Given the description of an element on the screen output the (x, y) to click on. 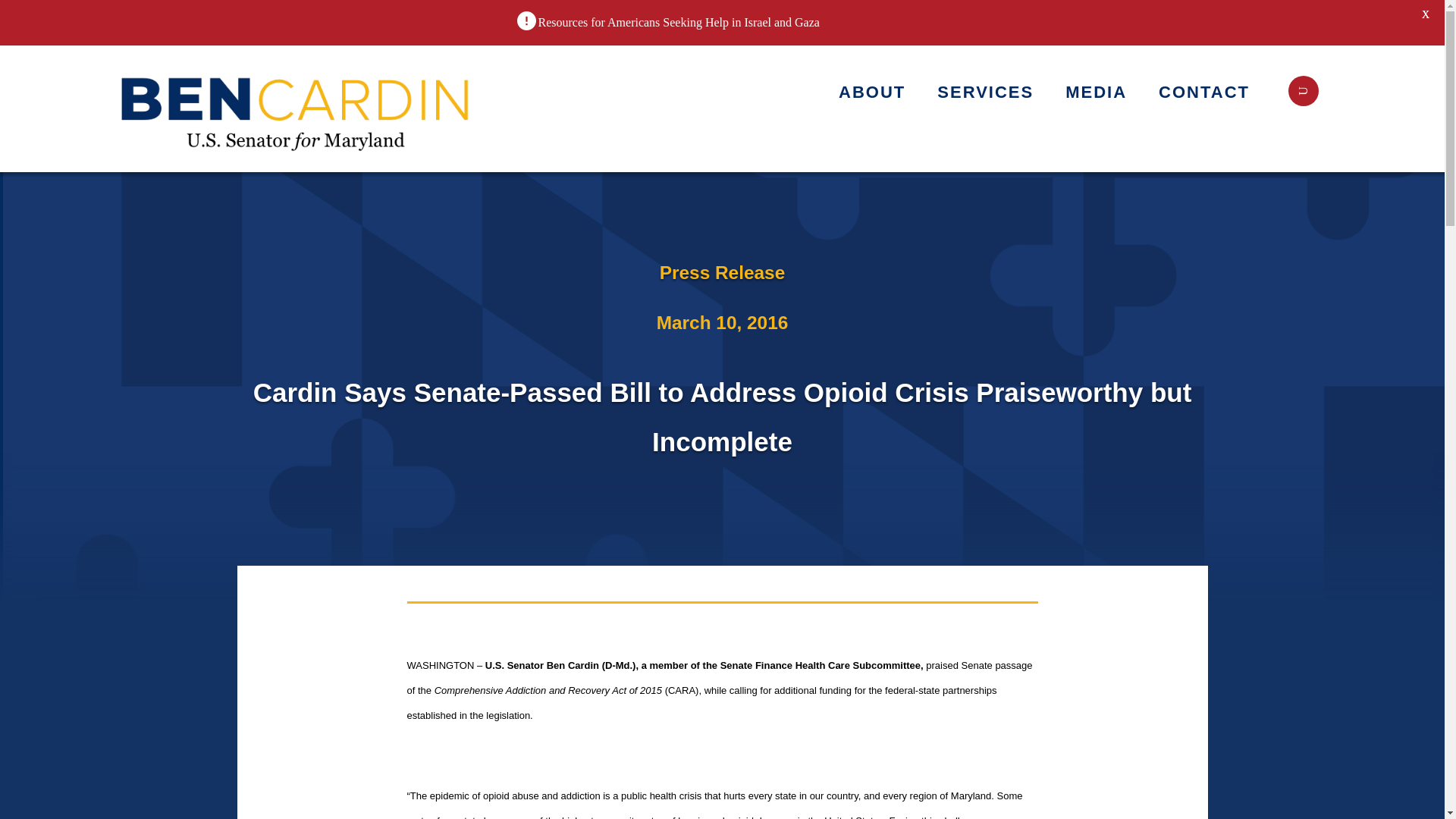
Large-Inner (296, 108)
